Given the description of an element on the screen output the (x, y) to click on. 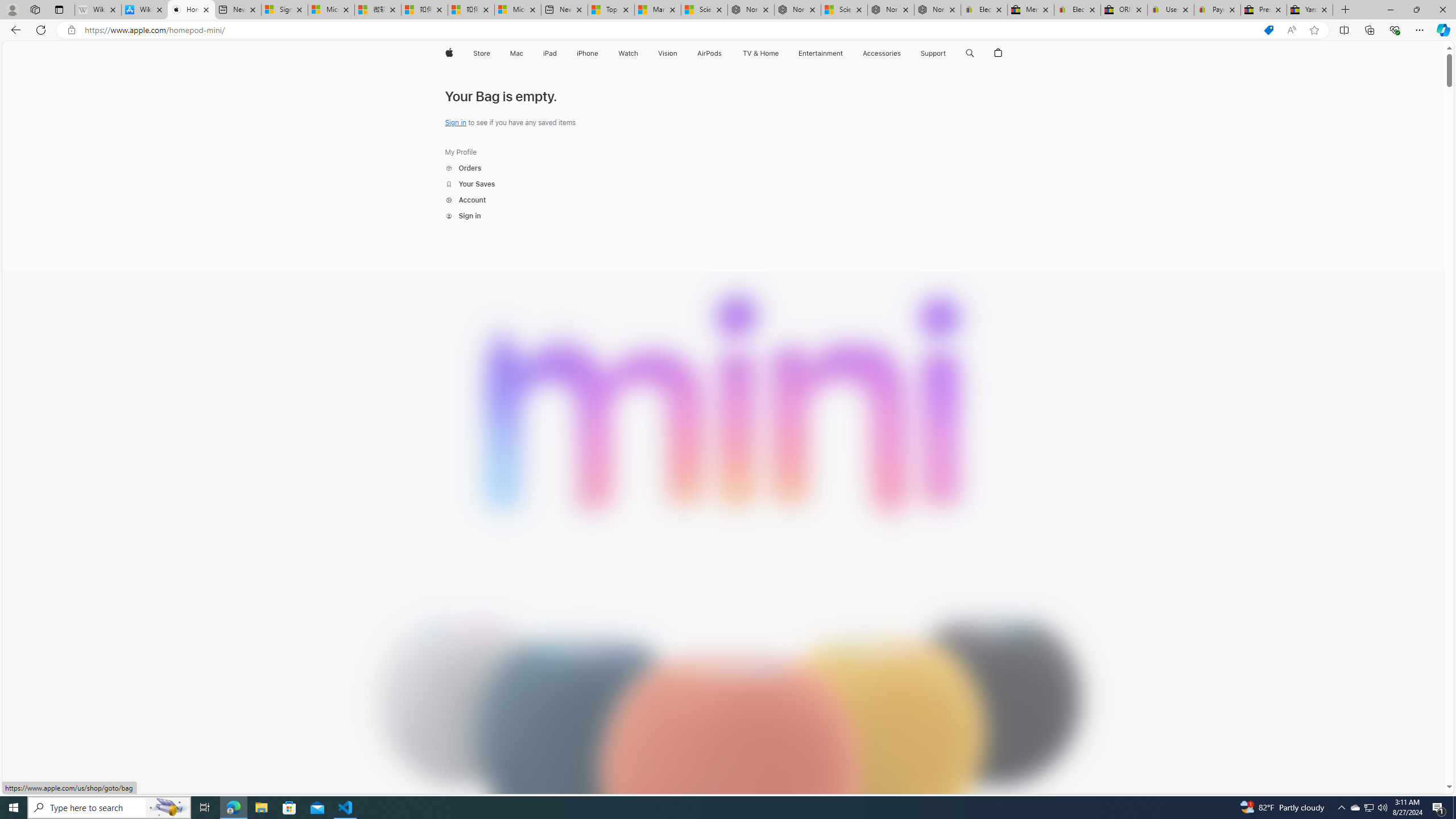
Vision (667, 53)
Mac (516, 53)
iPhone (587, 53)
TV & Home (759, 53)
Accessories (881, 53)
HomePod mini (484, 80)
Overview (897, 80)
Accessories (881, 53)
Tech Specs (944, 80)
